Given the description of an element on the screen output the (x, y) to click on. 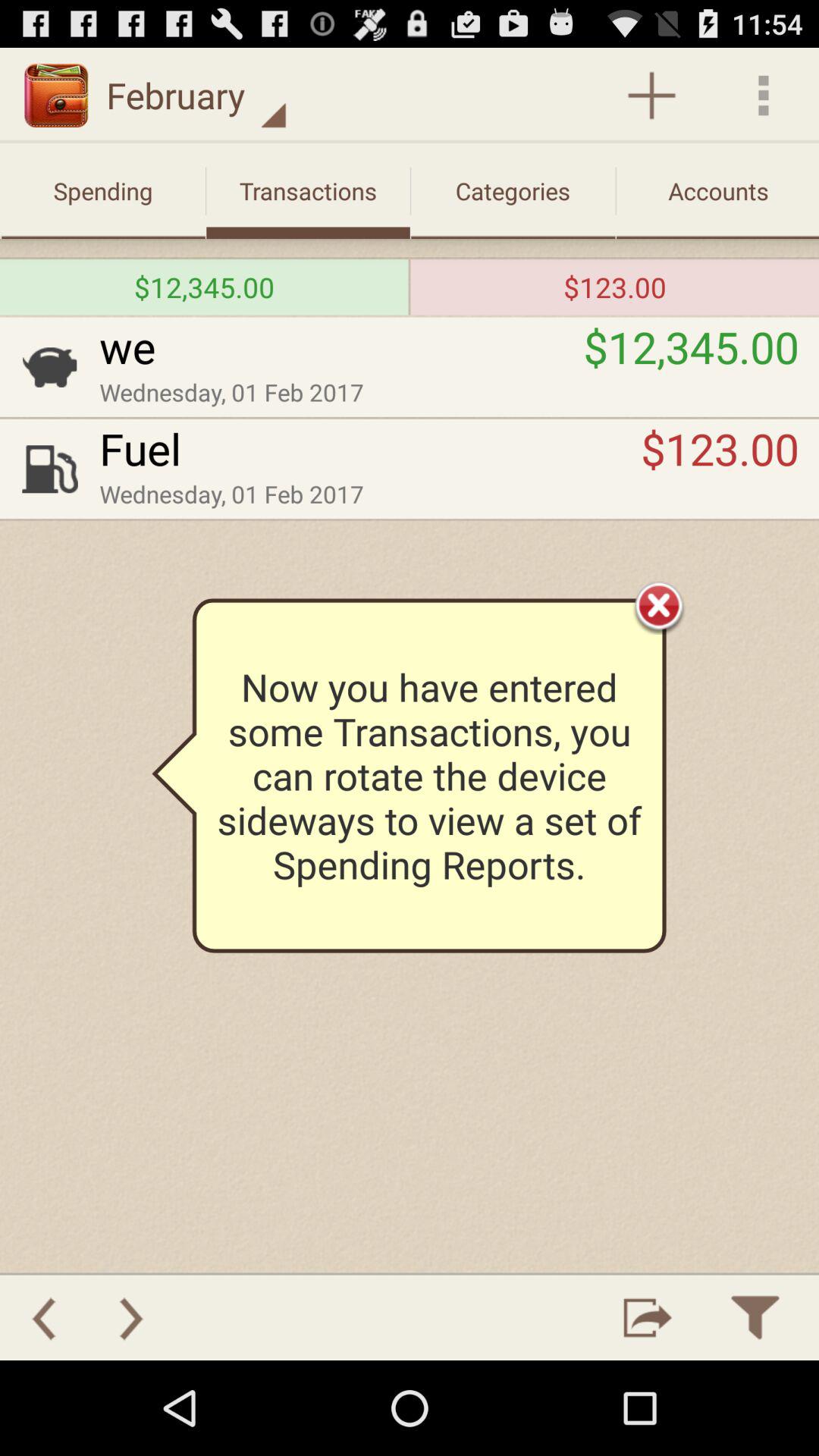
tap the icon above the spending (196, 95)
